Given the description of an element on the screen output the (x, y) to click on. 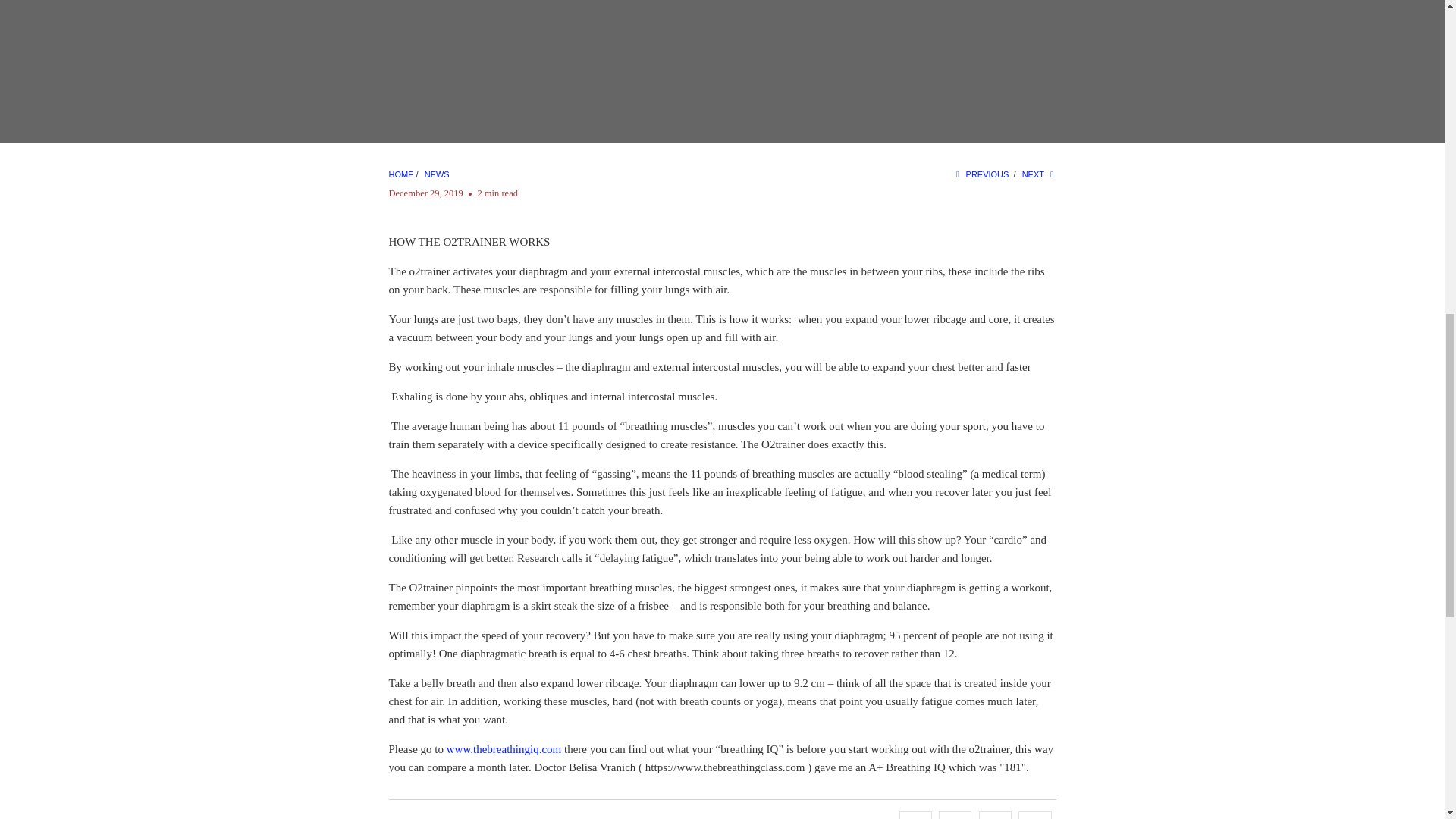
Share this on Facebook (955, 815)
Email this to a friend (1034, 815)
Share this on Pinterest (994, 815)
O2Trainer - O2Trainer.com (400, 174)
News (437, 174)
Share this on Twitter (915, 815)
